Given the description of an element on the screen output the (x, y) to click on. 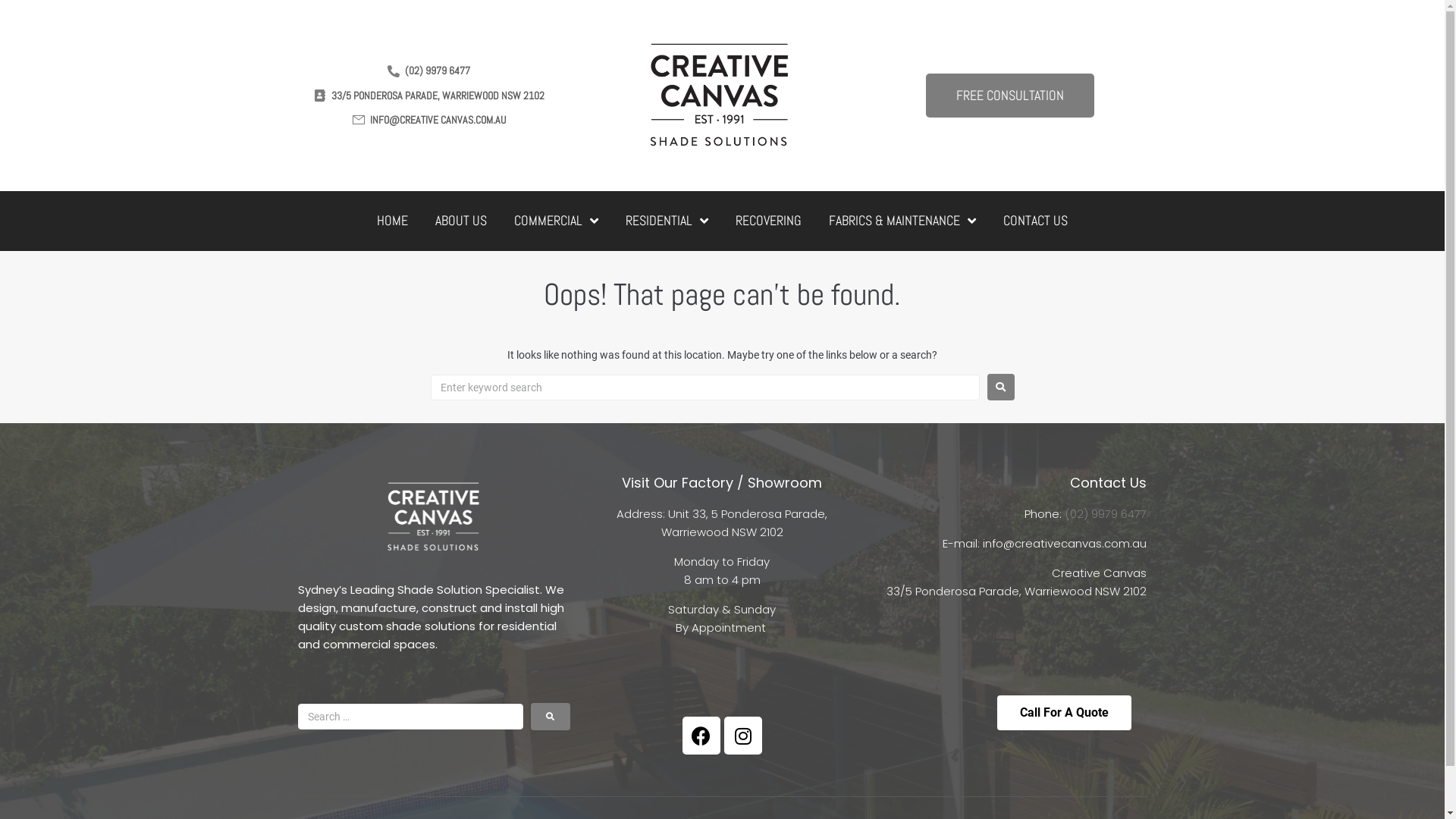
RESIDENTIAL Element type: text (666, 220)
Call For A Quote Element type: text (1064, 712)
ABOUT US Element type: text (460, 220)
COMMERCIAL Element type: text (556, 220)
RECOVERING Element type: text (768, 220)
FREE CONSULTATION Element type: text (1009, 95)
FABRICS & MAINTENANCE Element type: text (901, 220)
(02) 9979 6477 Element type: text (1105, 513)
HOME Element type: text (391, 220)
INFO@CREATIVE CANVAS.COM.AU Element type: text (427, 119)
CONTACT US Element type: text (1035, 220)
(02) 9979 6477 Element type: text (427, 70)
